Given the description of an element on the screen output the (x, y) to click on. 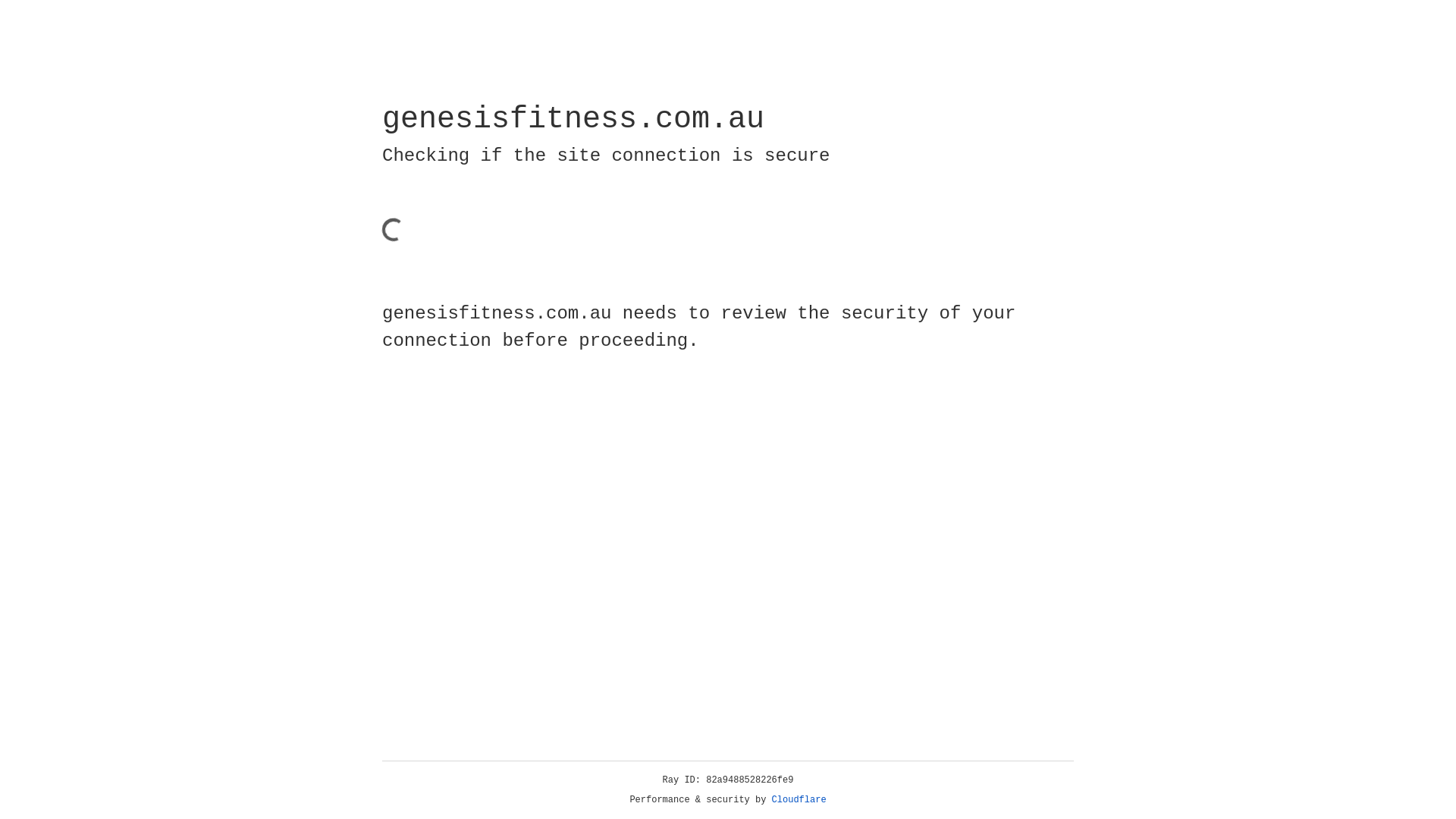
Cloudflare Element type: text (798, 799)
